Given the description of an element on the screen output the (x, y) to click on. 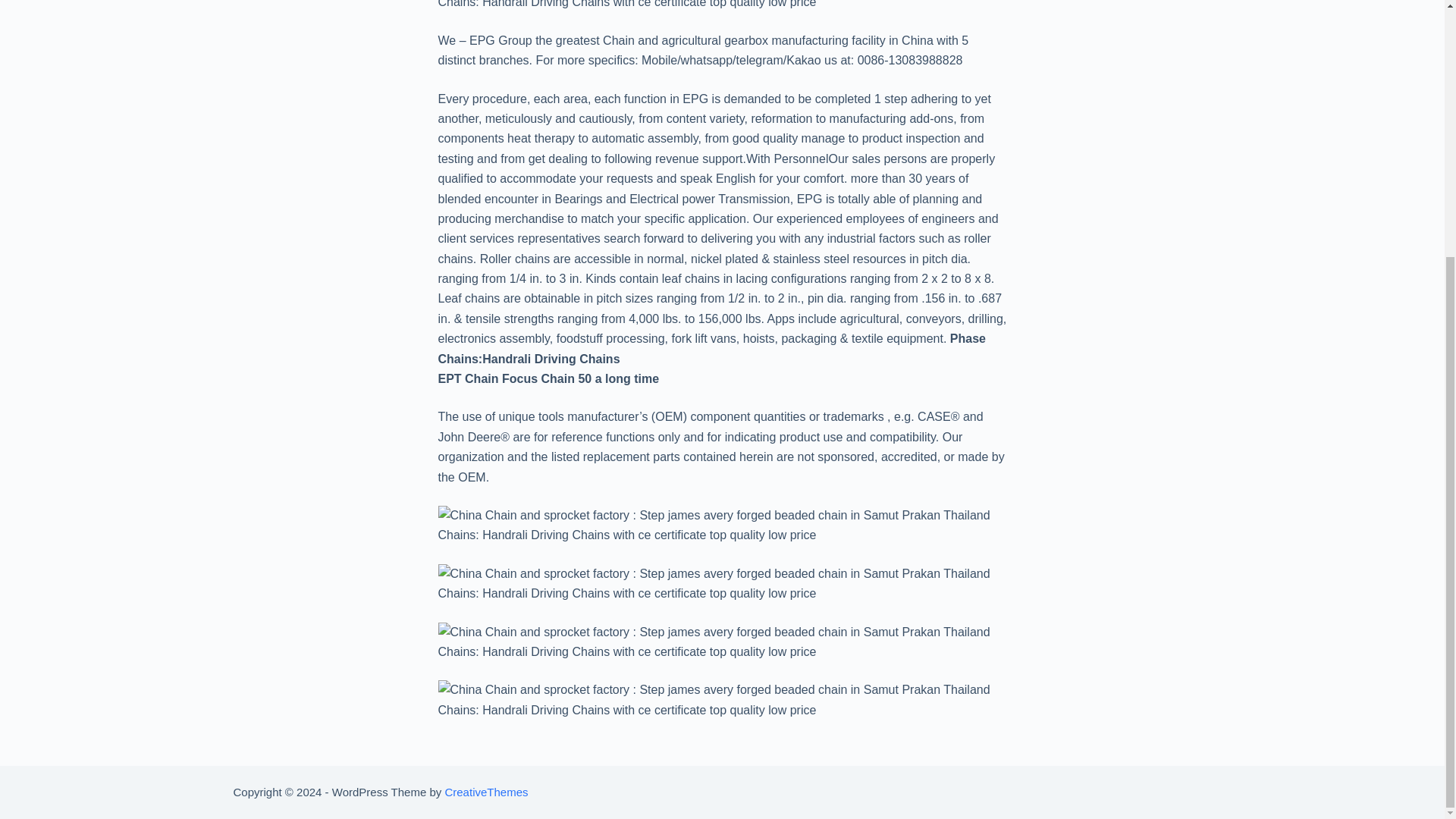
CreativeThemes (485, 791)
